Given the description of an element on the screen output the (x, y) to click on. 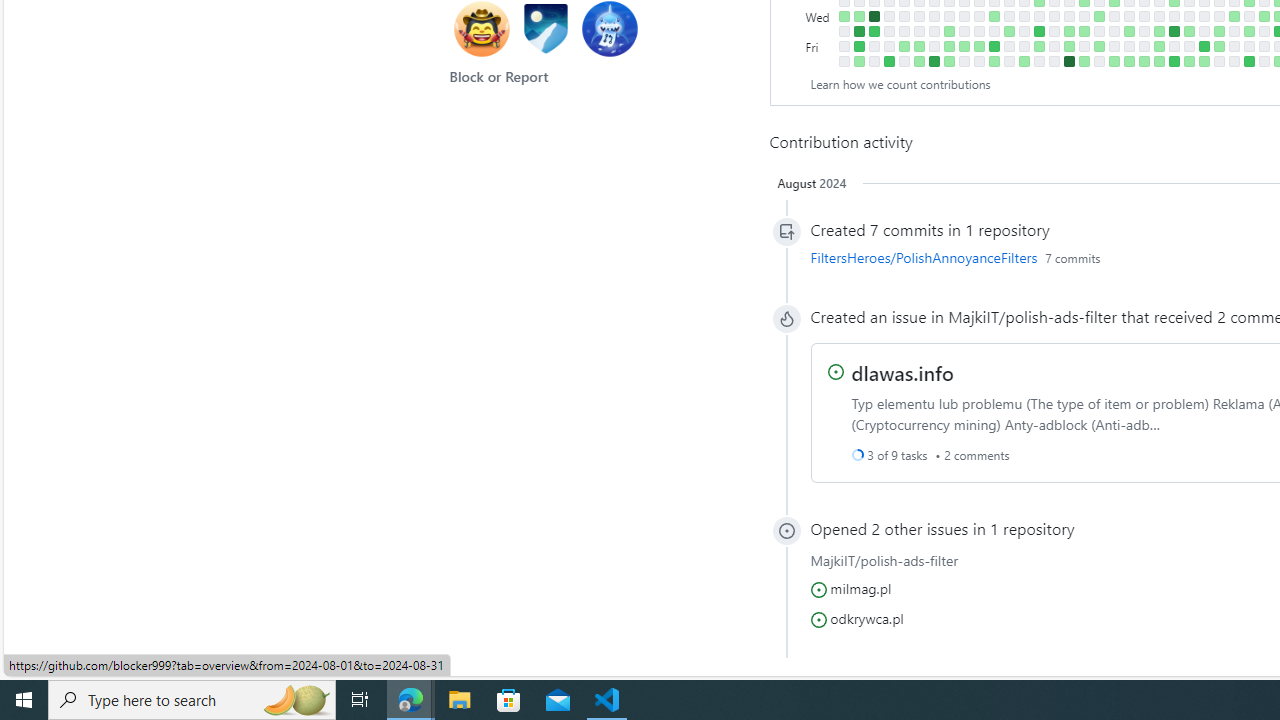
No contributions on July 19th. (1263, 46)
No contributions on May 23rd. (1143, 30)
No contributions on March 23rd. (1009, 61)
3 contributions on February 10th. (918, 61)
1 contribution on February 9th. (918, 46)
1 contribution on January 13th. (858, 61)
2 contributions on June 28th. (1218, 46)
1 contribution on February 22nd. (948, 30)
No contributions on May 24th. (1143, 46)
No contributions on February 7th. (918, 16)
Learn how we count contributions (900, 84)
Block or Report (499, 76)
No contributions on January 5th. (843, 46)
milmag.pl (860, 588)
1 contribution on March 8th. (978, 46)
